Given the description of an element on the screen output the (x, y) to click on. 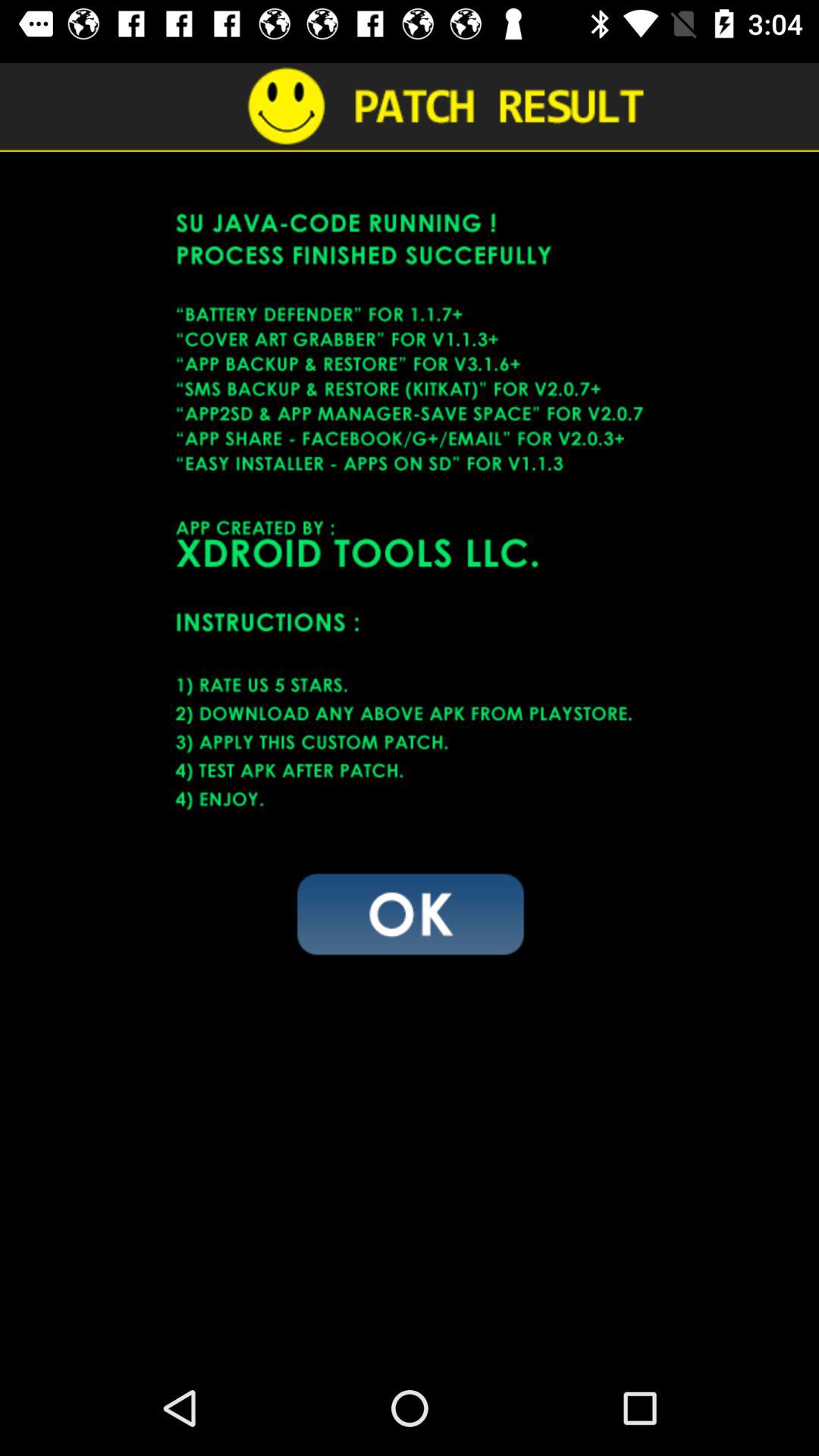
ok button (409, 913)
